Given the description of an element on the screen output the (x, y) to click on. 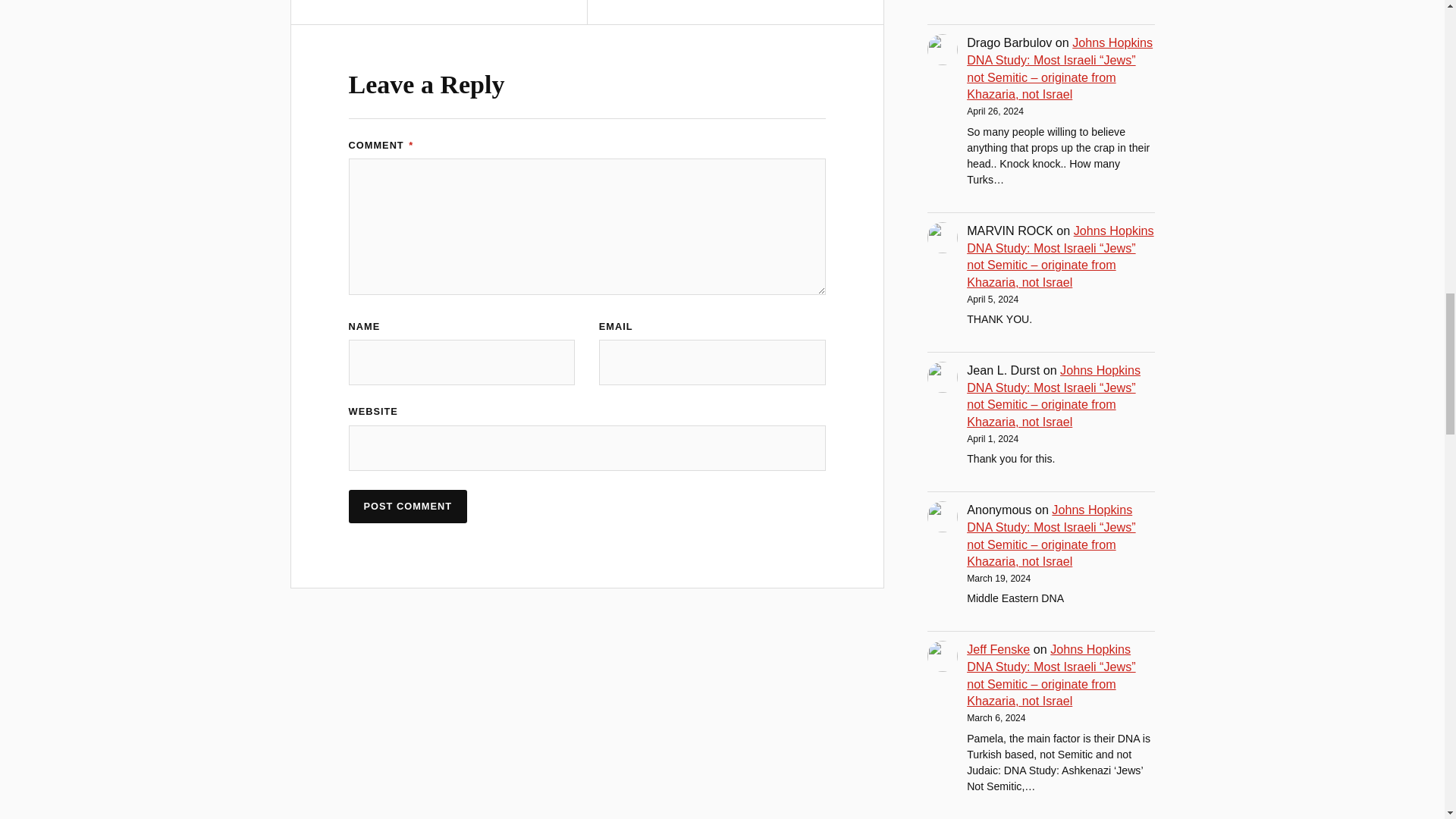
Jeff Fenske (997, 649)
Post Comment (408, 506)
Post Comment (408, 506)
